Given the description of an element on the screen output the (x, y) to click on. 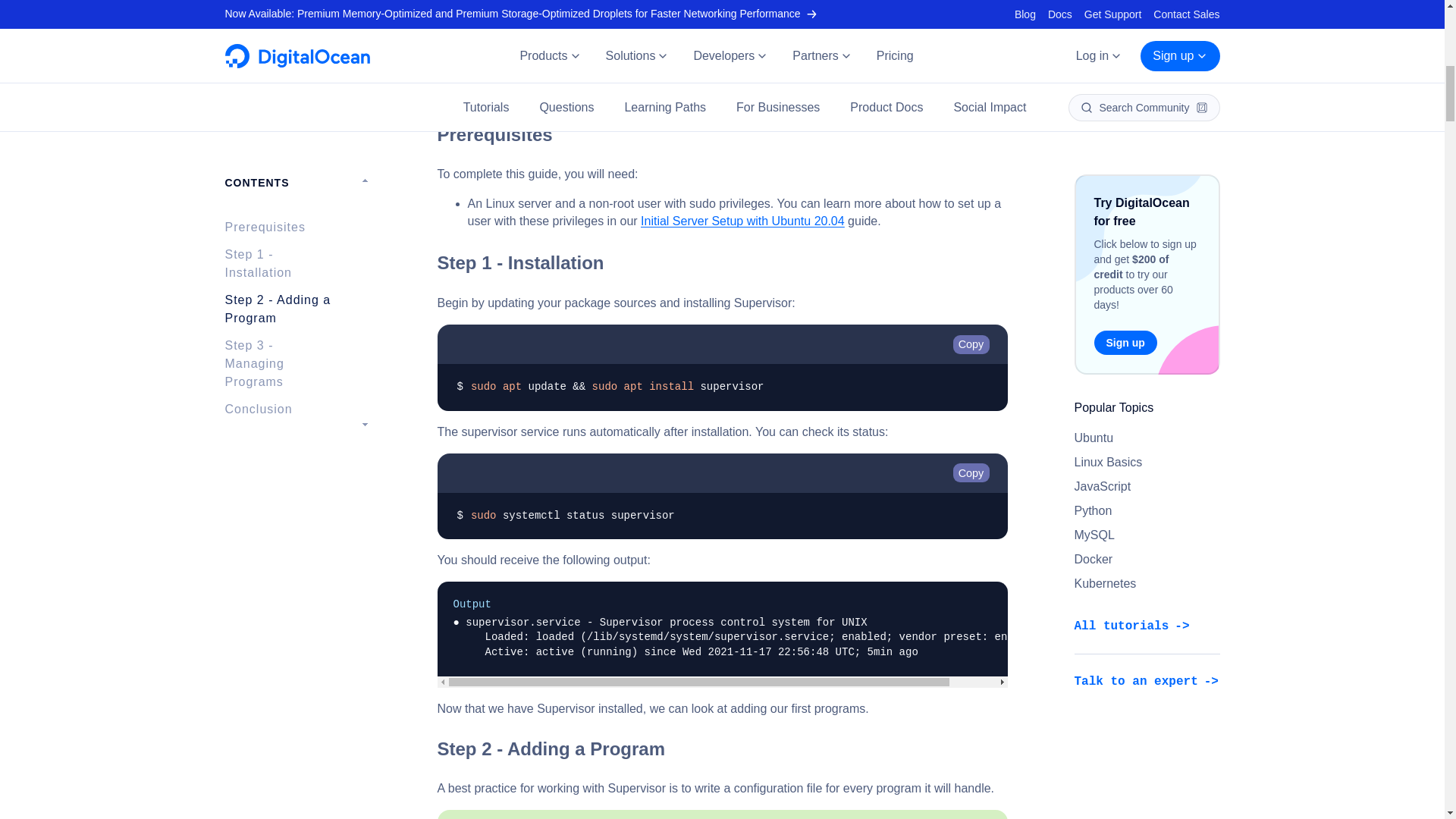
Output (721, 604)
